Given the description of an element on the screen output the (x, y) to click on. 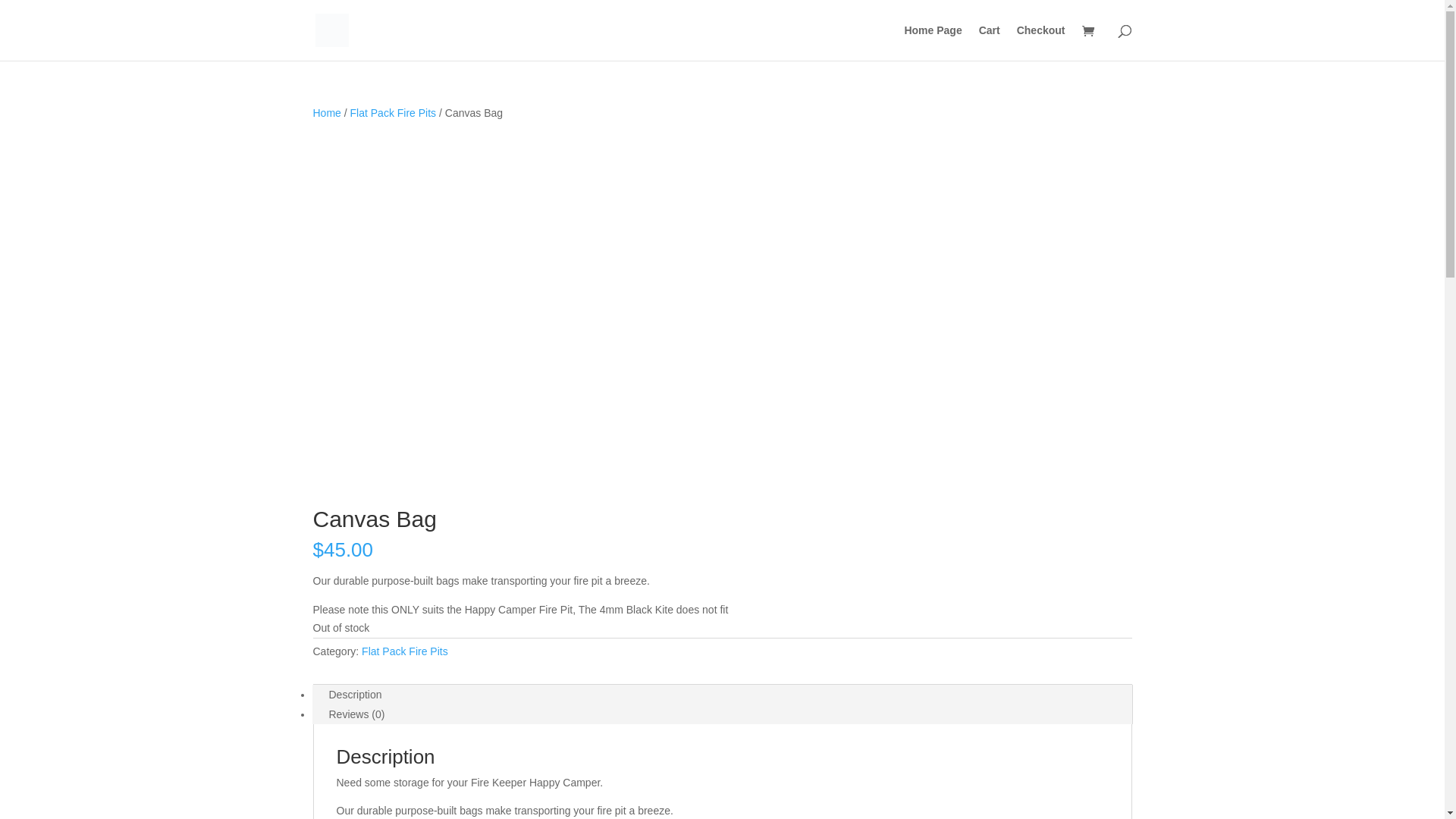
Checkout Element type: text (1040, 42)
Flat Pack Fire Pits Element type: text (393, 112)
Flat Pack Fire Pits Element type: text (404, 651)
Home Element type: text (326, 112)
Description Element type: text (355, 694)
Reviews (0) Element type: text (356, 714)
Home Page Element type: text (932, 42)
Cart Element type: text (989, 42)
